Given the description of an element on the screen output the (x, y) to click on. 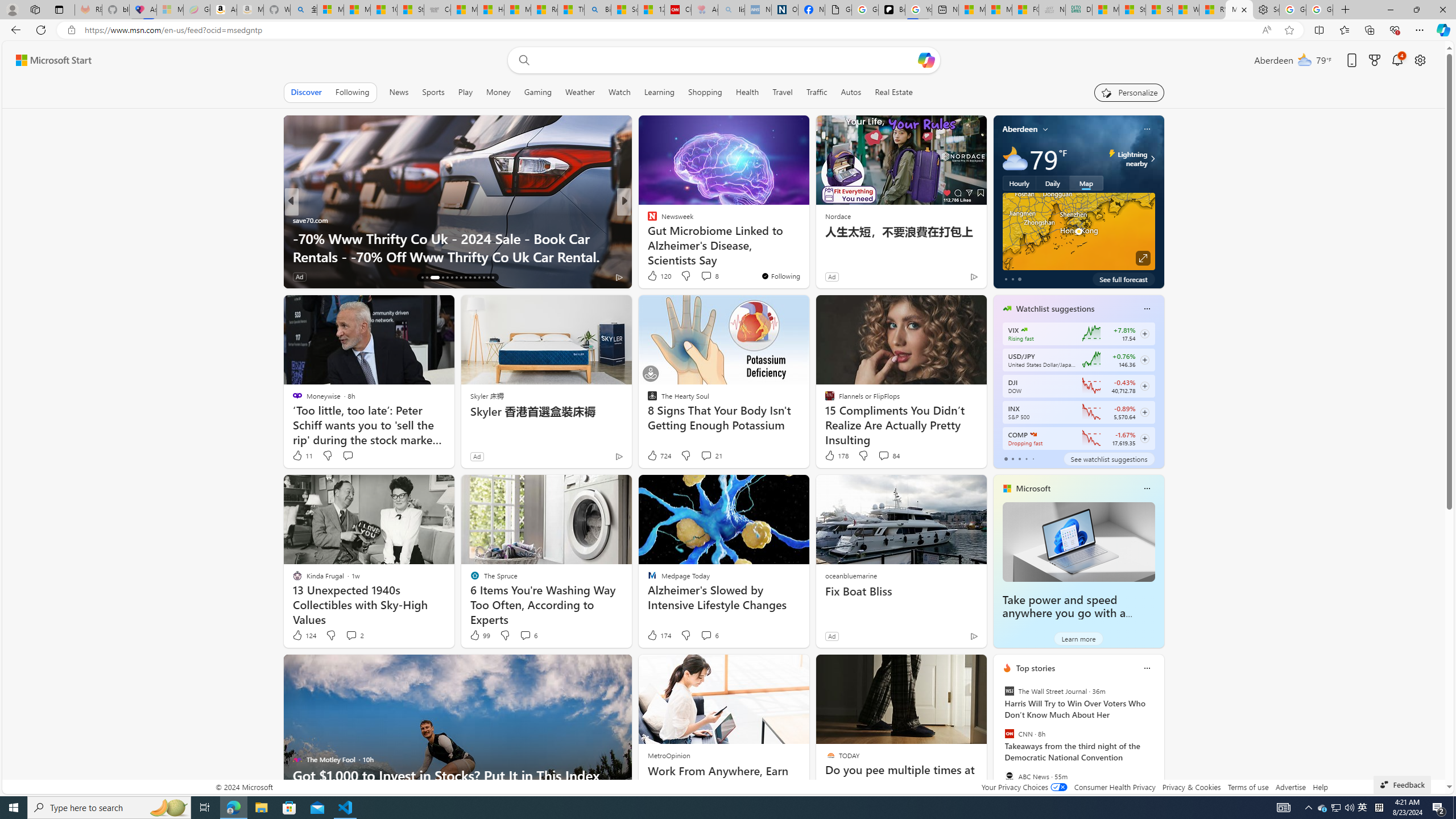
Arthritis: Ask Health Professionals - Sleeping (703, 9)
Daily (1052, 183)
20 Like (652, 276)
View comments 6 Comment (705, 635)
View comments 8 Comment (705, 275)
See full forecast (1123, 278)
ABC News (1008, 775)
The Wall Street Journal (1008, 691)
AutomationID: tab-26 (474, 277)
